Given the description of an element on the screen output the (x, y) to click on. 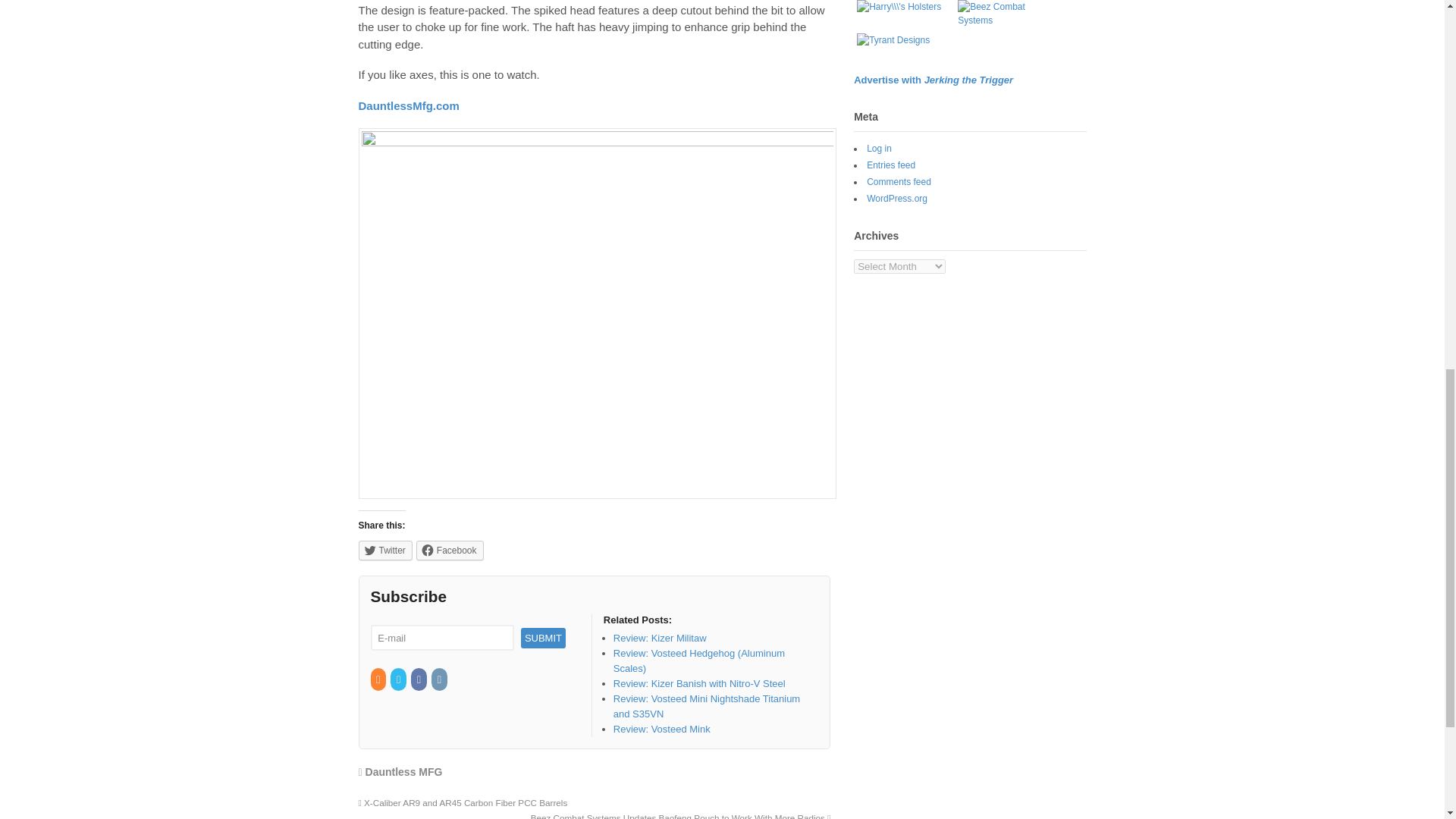
Twitter (398, 679)
Twitter (385, 550)
DauntlessMfg.com (408, 105)
Submit (543, 638)
Review: Kizer Militaw (659, 637)
RSS (378, 679)
Click to share on Facebook (449, 550)
E-mail (441, 637)
Submit (543, 638)
